Given the description of an element on the screen output the (x, y) to click on. 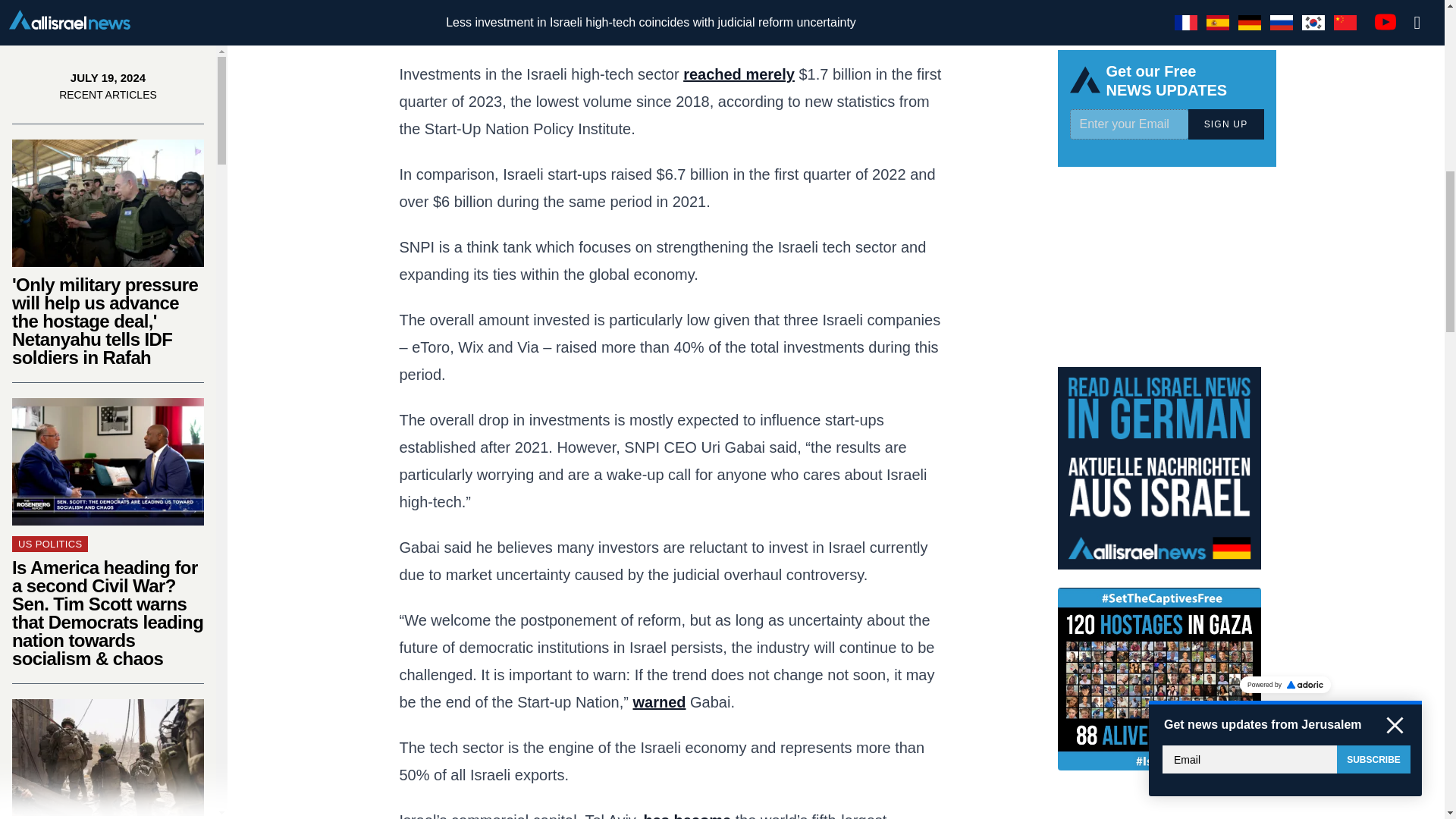
Part of a poster distributed by Michail Chkhikvishvili (107, 777)
